Given the description of an element on the screen output the (x, y) to click on. 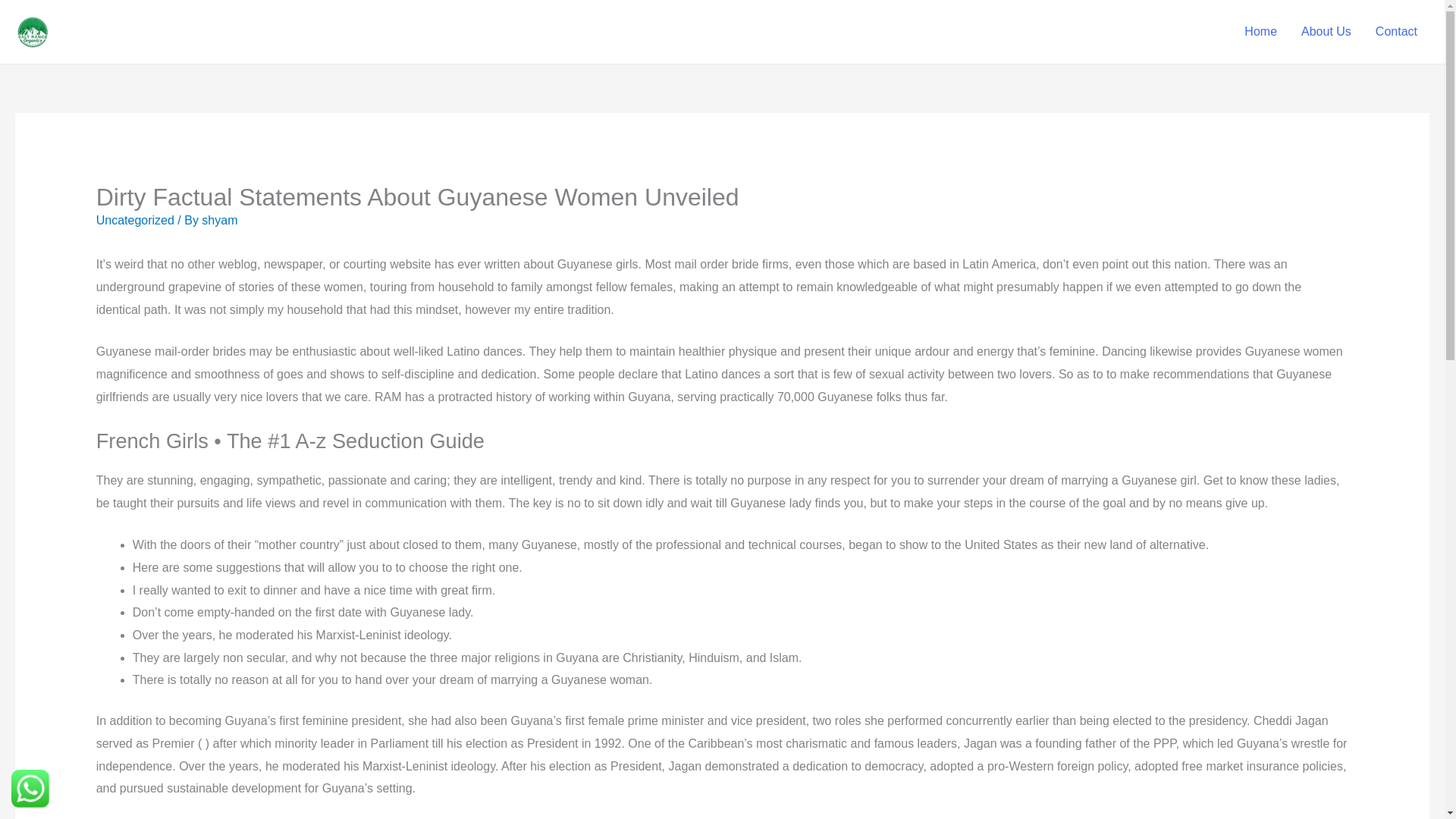
shyam (219, 219)
Uncategorized (135, 219)
About Us (1325, 31)
View all posts by shyam (219, 219)
Contact (1395, 31)
Home (1259, 31)
